Given the description of an element on the screen output the (x, y) to click on. 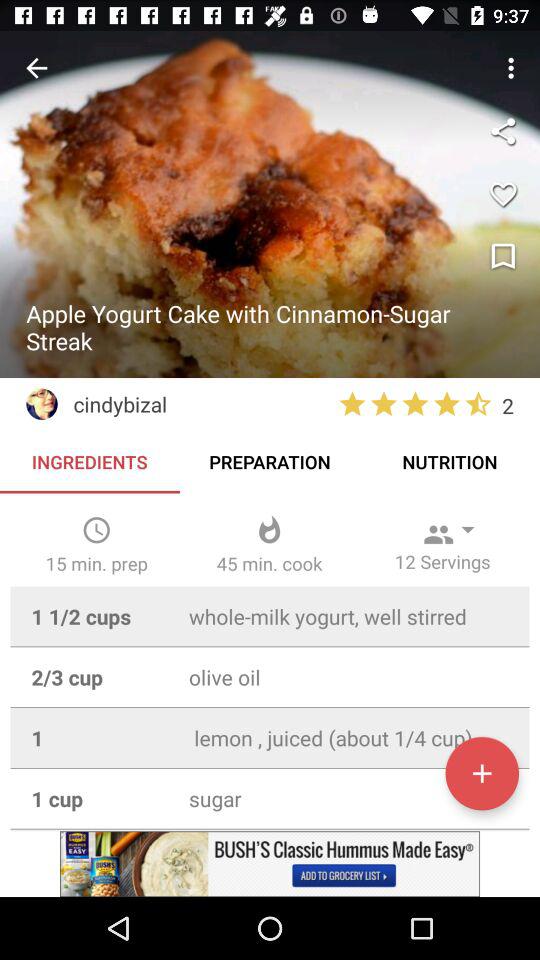
go to previous screen (36, 68)
